Given the description of an element on the screen output the (x, y) to click on. 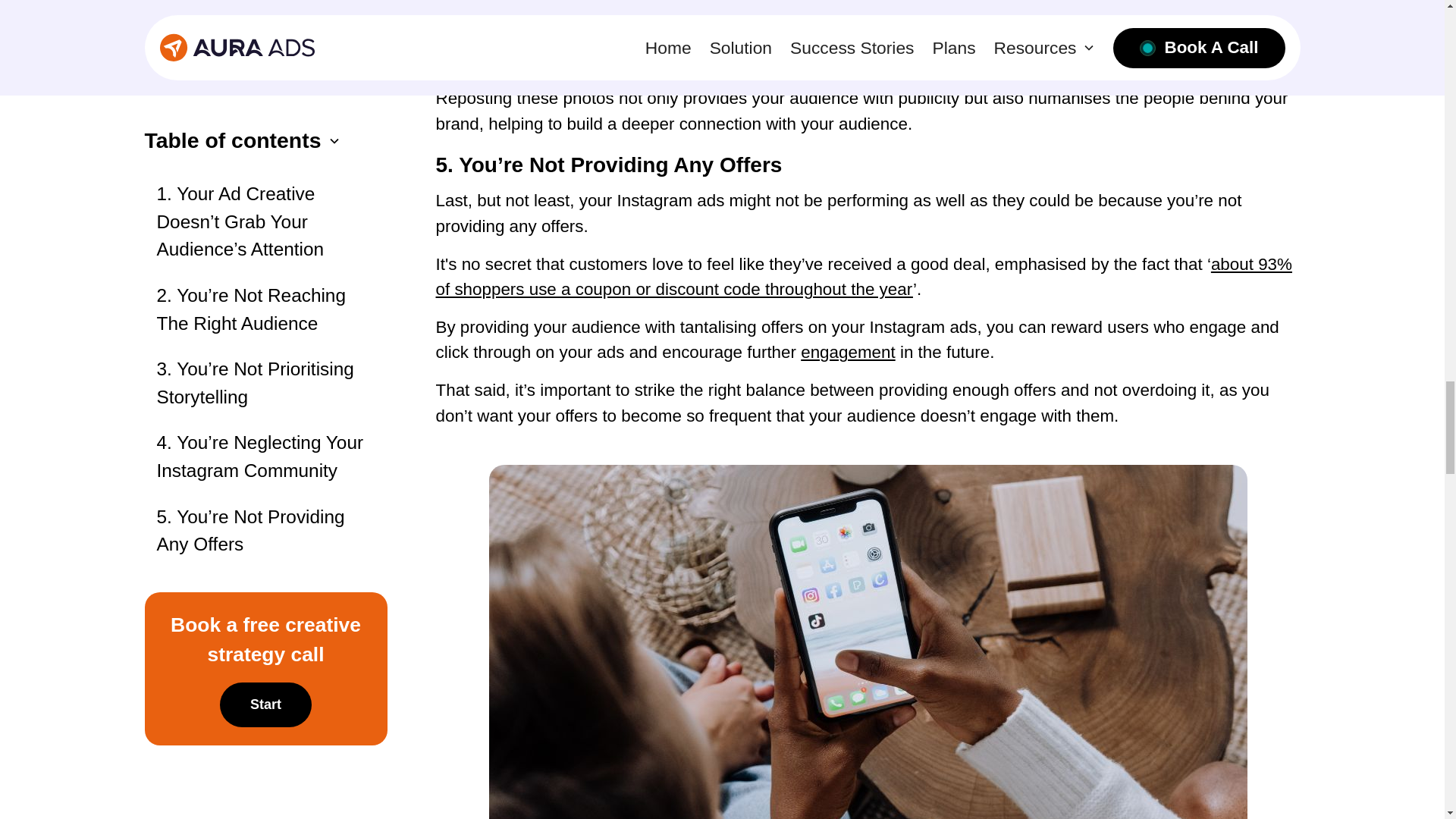
engagement (847, 352)
